Given the description of an element on the screen output the (x, y) to click on. 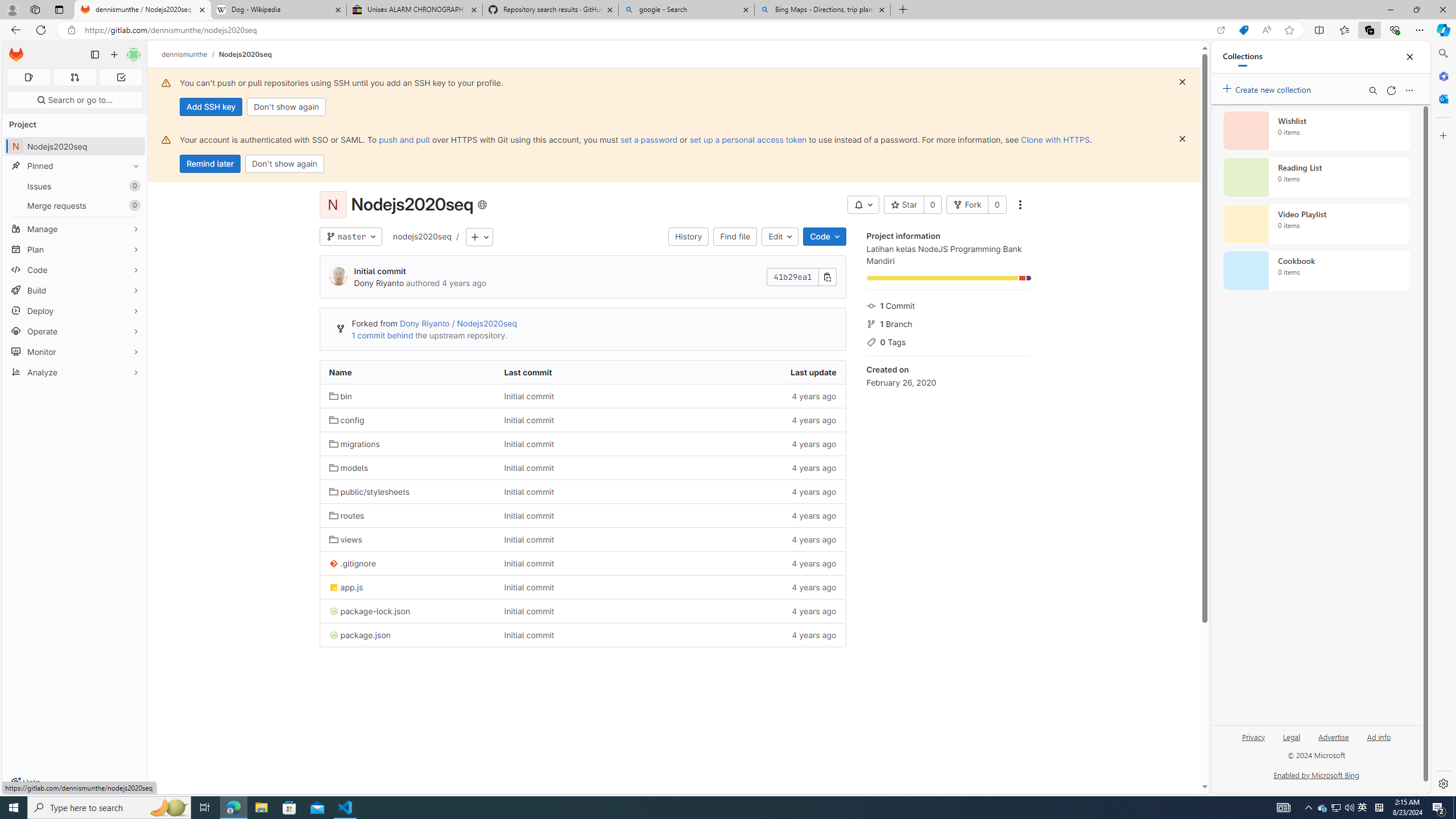
Last commit (583, 372)
.gitignore (352, 563)
Plan (74, 248)
Open in app (1220, 29)
Analyze (74, 371)
Add SSH key (211, 106)
Issues0 (74, 185)
nodejs2020seq (422, 235)
Class: tree-item (582, 634)
